Given the description of an element on the screen output the (x, y) to click on. 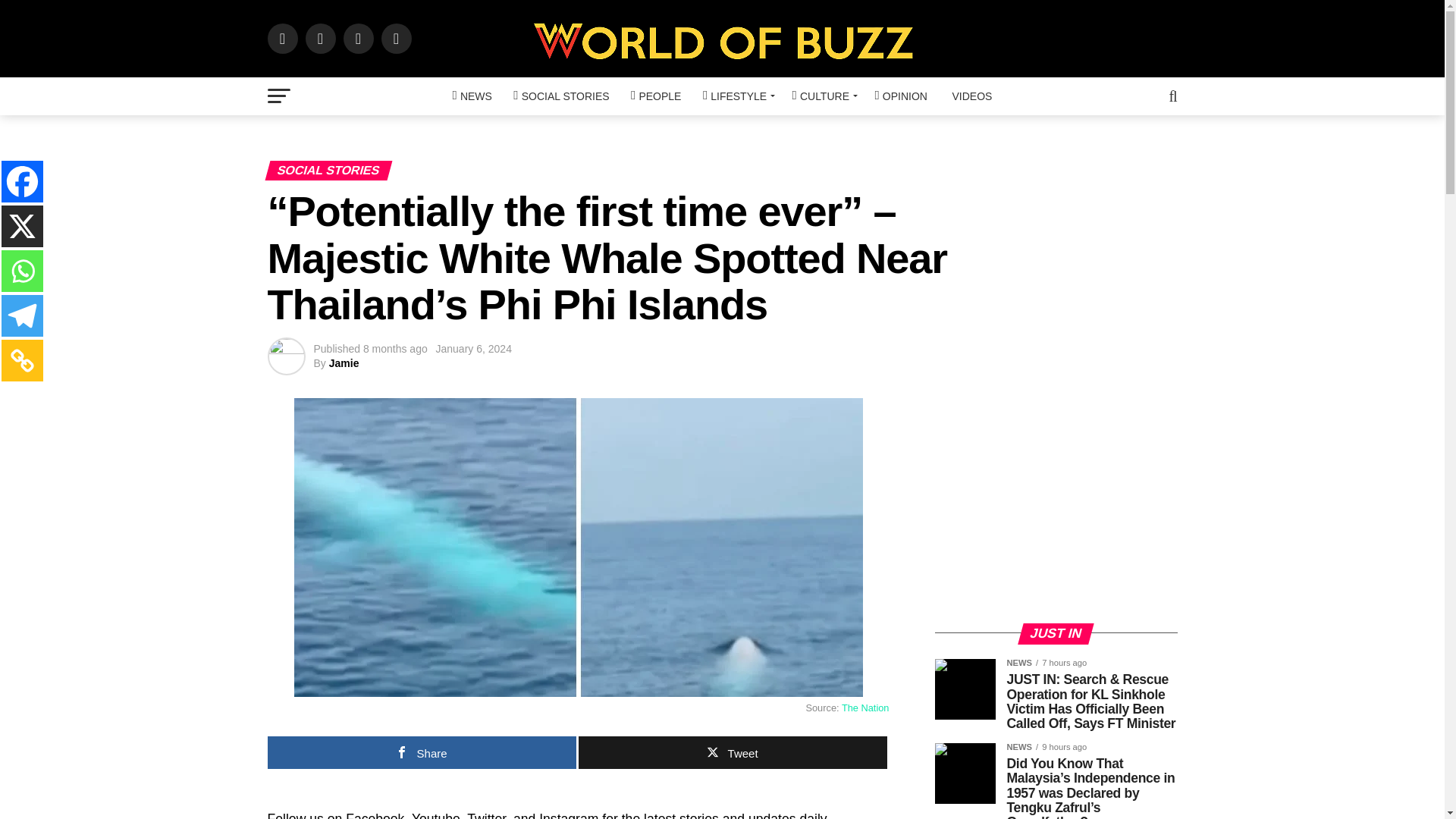
Facebook (22, 181)
NEWS (472, 95)
X (22, 226)
Telegram (22, 315)
Whatsapp (22, 270)
SOCIAL STORIES (560, 95)
Copy Link (22, 360)
